Given the description of an element on the screen output the (x, y) to click on. 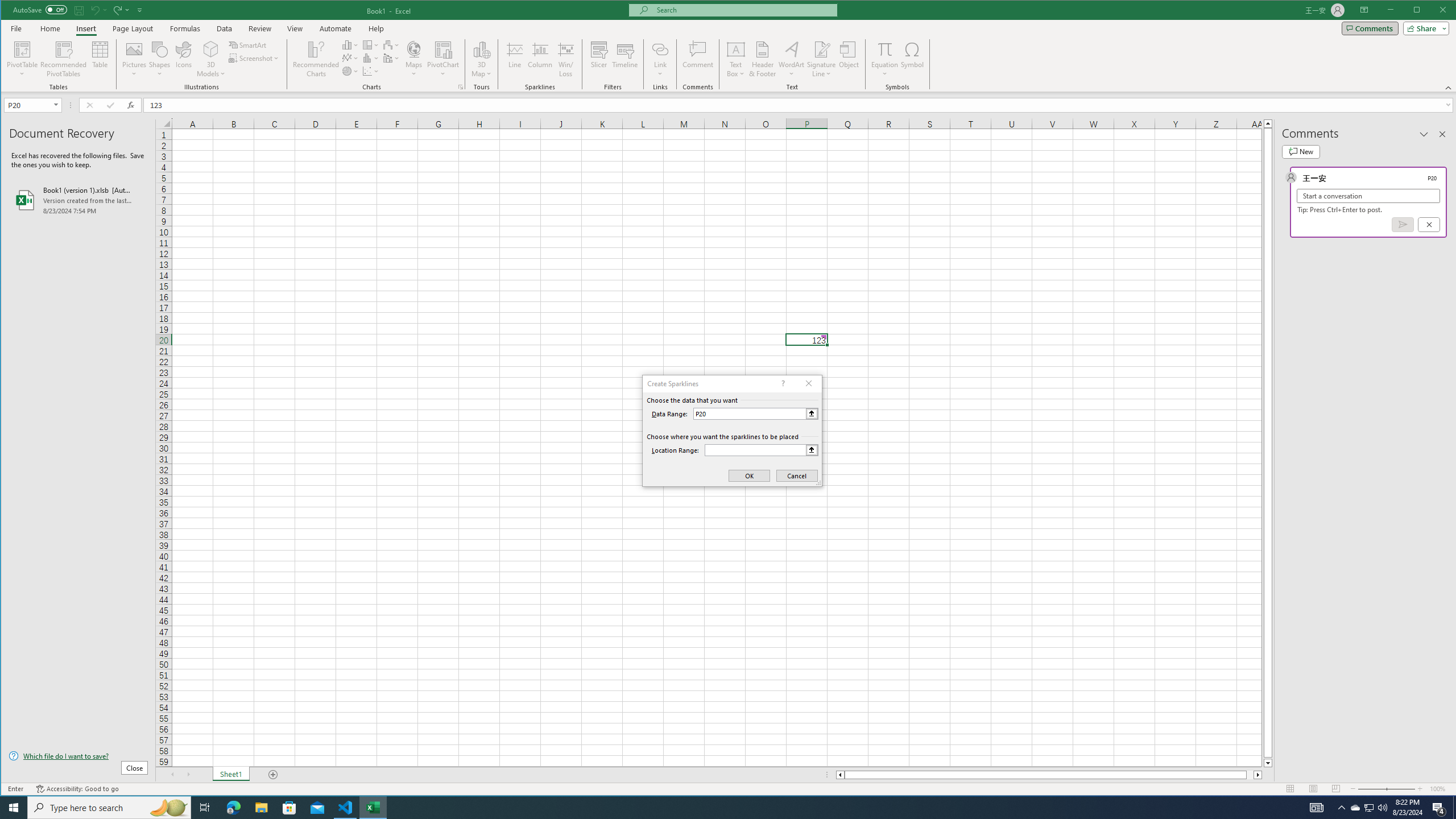
Header & Footer... (762, 59)
Pictures (134, 59)
Win/Loss (565, 59)
Shapes (159, 59)
Line (514, 59)
Recommended PivotTables (63, 59)
Symbol... (912, 59)
